Given the description of an element on the screen output the (x, y) to click on. 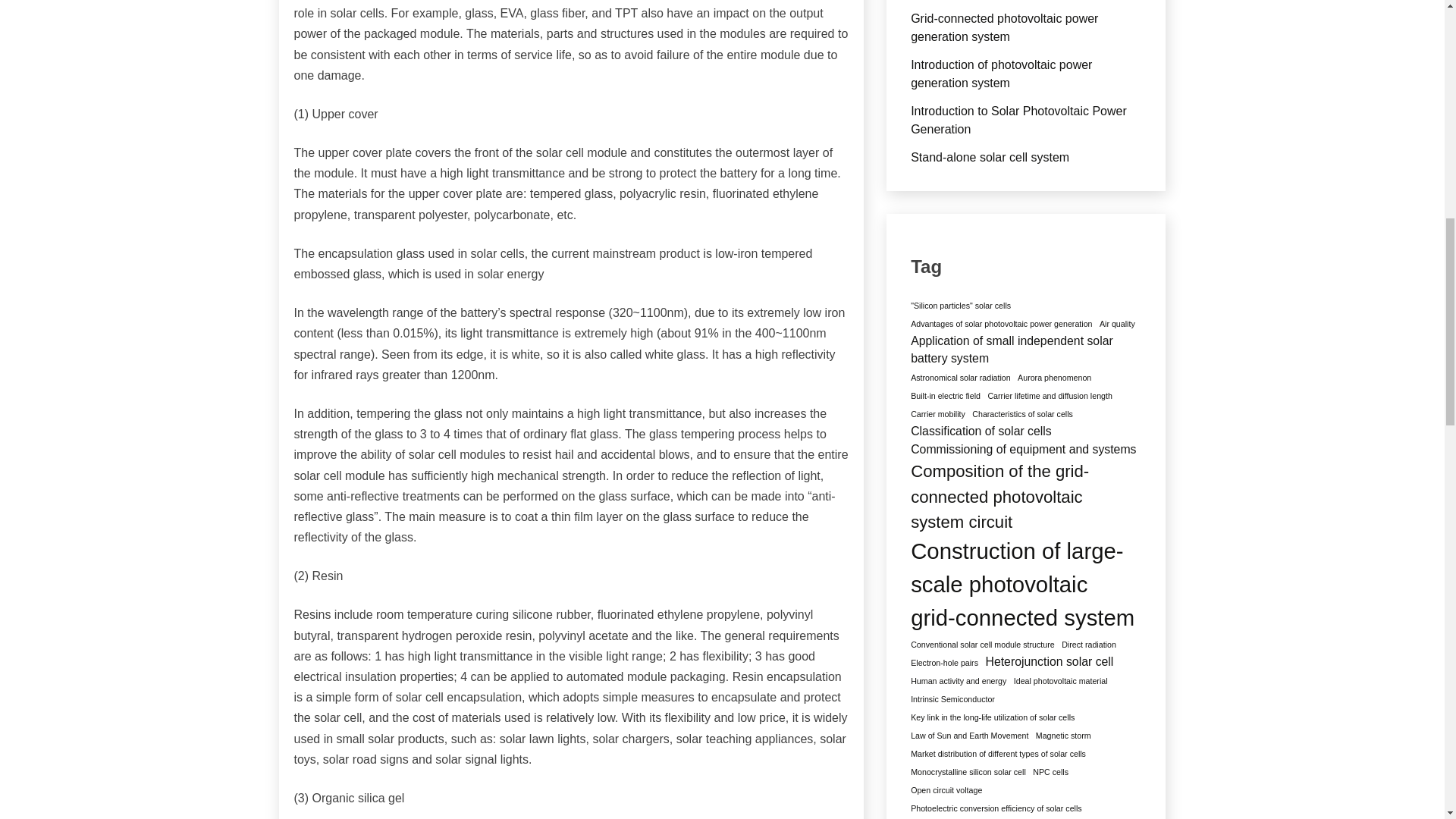
Advantages of solar photovoltaic power generation (1001, 323)
Grid-connected photovoltaic power generation system (1004, 27)
Introduction of photovoltaic power generation system (1001, 73)
"Silicon particles" solar cells (960, 305)
Aurora phenomenon (1053, 377)
Built-in electric field (945, 395)
Air quality (1117, 323)
Application of small independent solar battery system (1024, 349)
Introduction to Solar Photovoltaic Power Generation (1018, 119)
Stand-alone solar cell system (989, 156)
Astronomical solar radiation (960, 377)
